Given the description of an element on the screen output the (x, y) to click on. 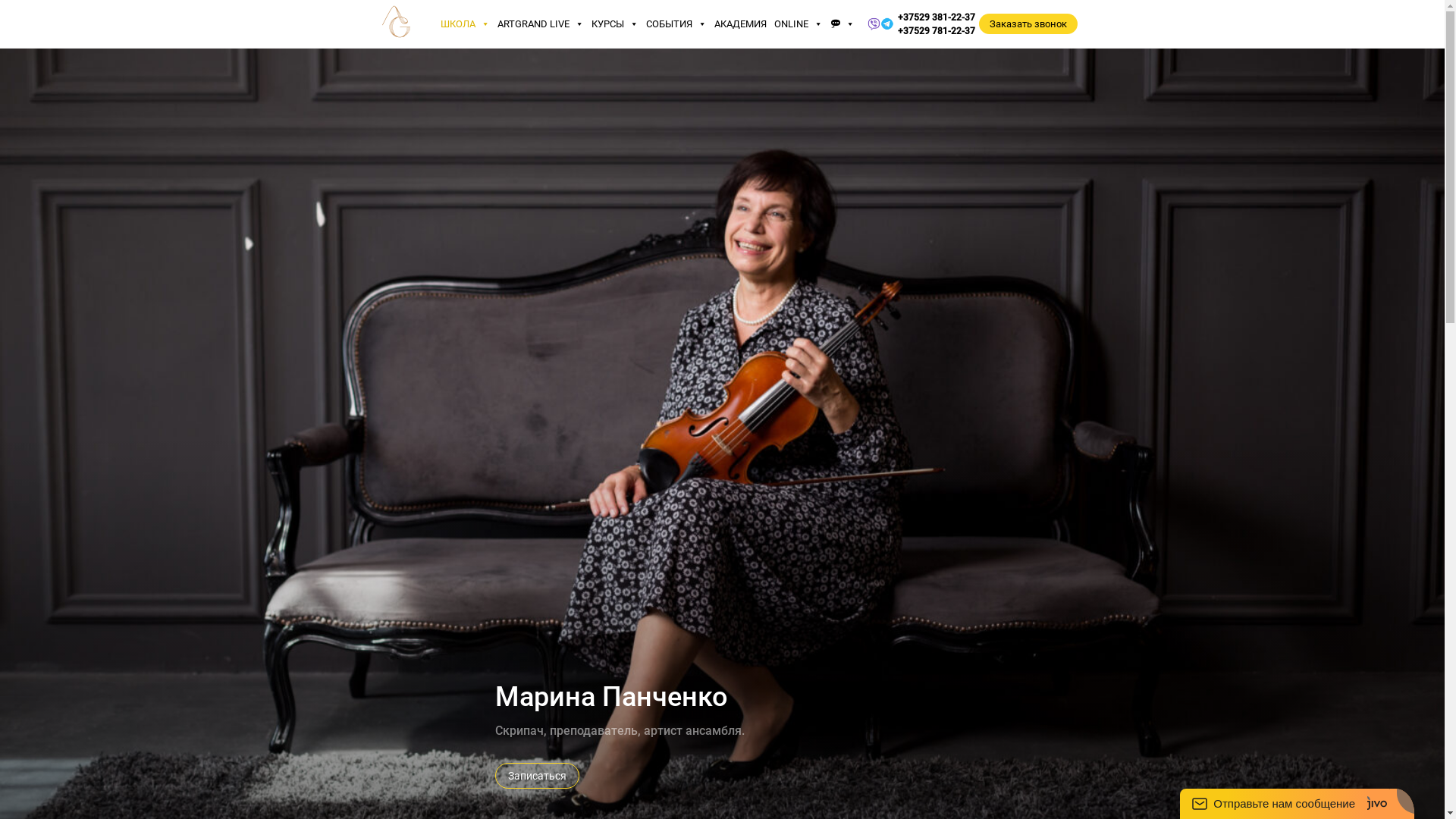
ONLINE Element type: text (798, 24)
+37529 381-22-37 Element type: text (936, 17)
+37529 781-22-37 Element type: text (936, 30)
ARTGRAND LIVE Element type: text (540, 24)
